Given the description of an element on the screen output the (x, y) to click on. 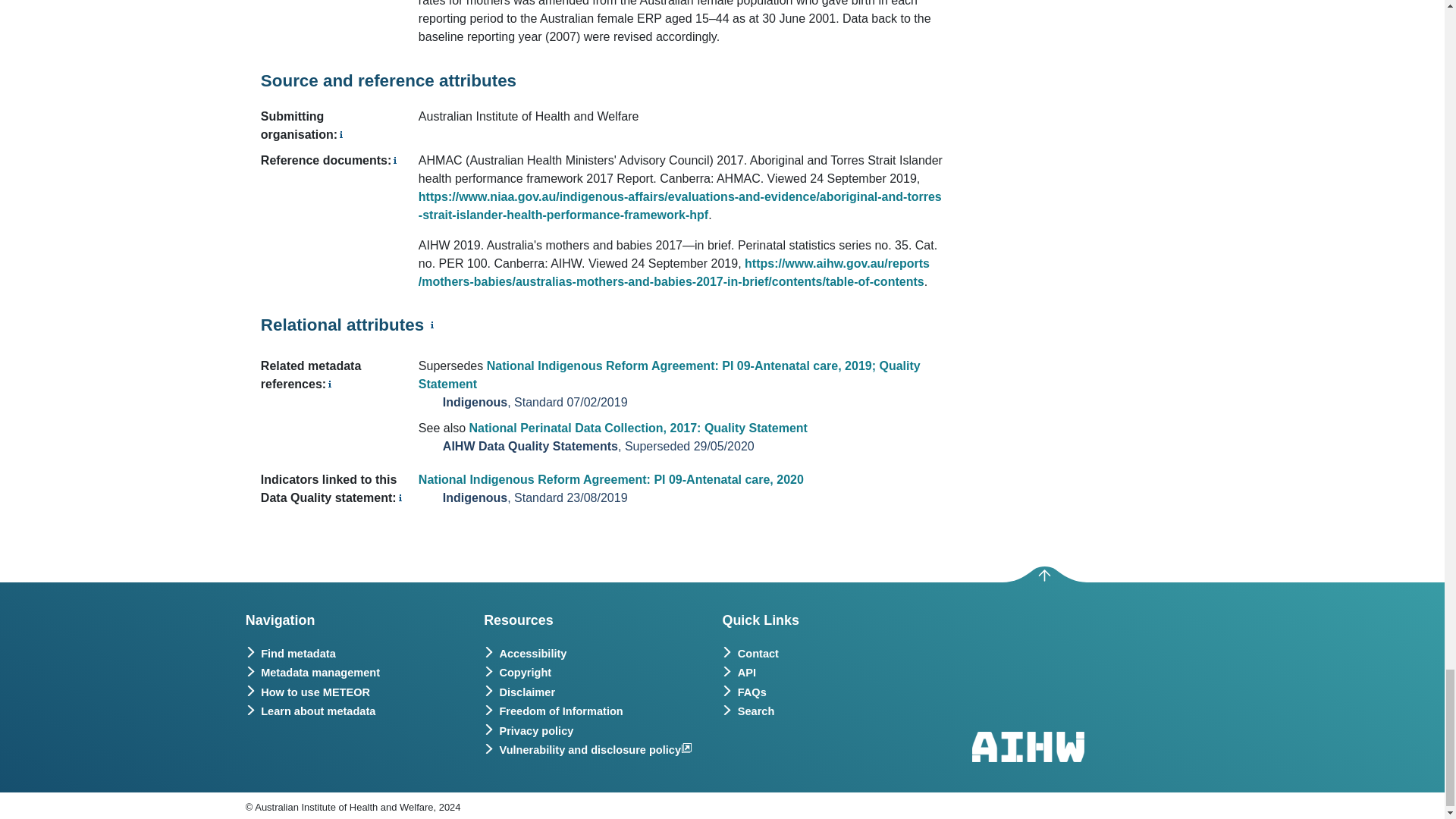
Back to top (1044, 575)
